Given the description of an element on the screen output the (x, y) to click on. 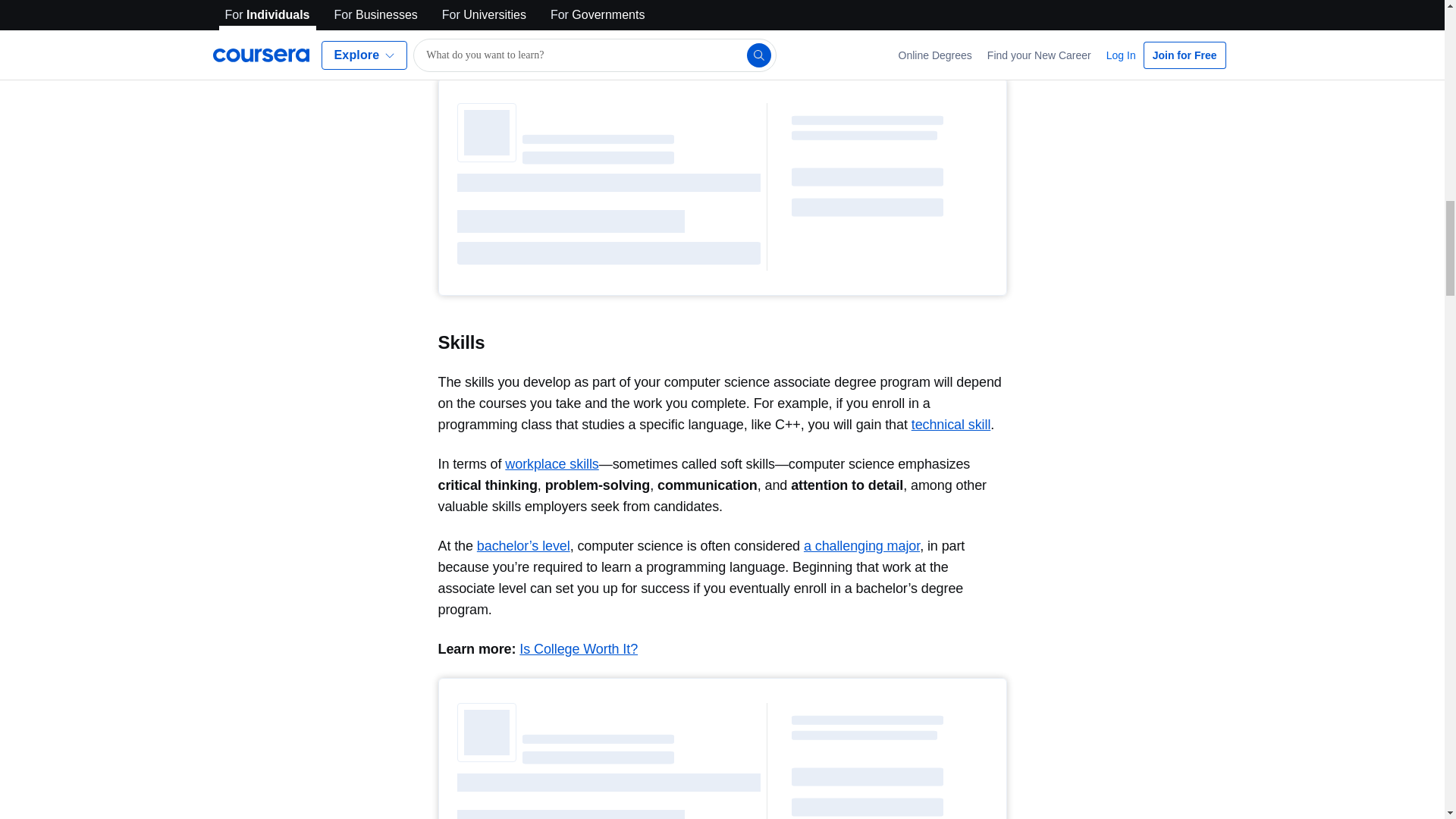
Is College Worth It? (578, 648)
workplace skills (551, 463)
technical skill (951, 424)
a challenging major (861, 545)
